Given the description of an element on the screen output the (x, y) to click on. 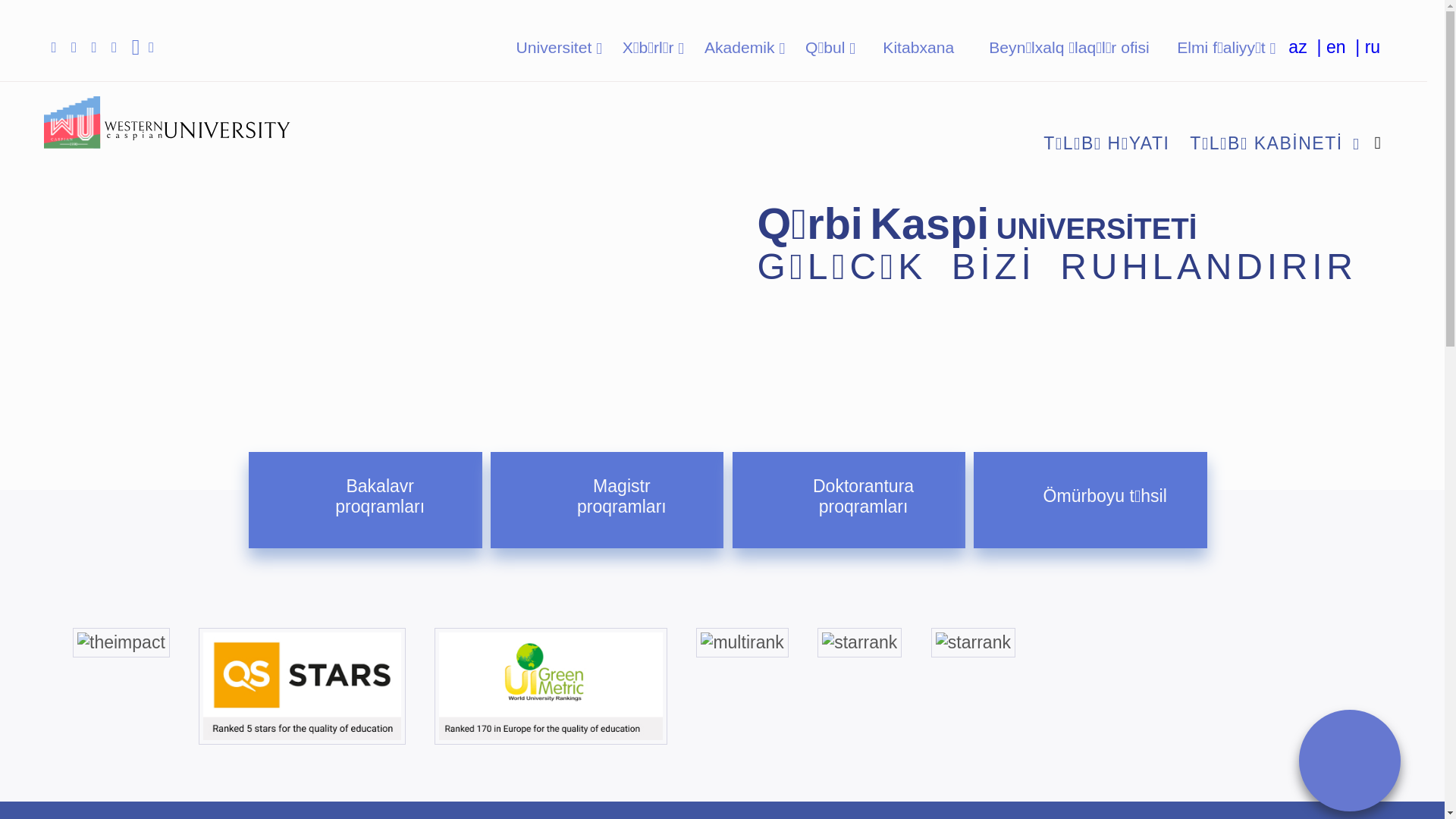
Kitabxana Element type: text (917, 47)
ru Element type: text (1372, 47)
en  |  Element type: text (1345, 47)
Universitet Element type: text (558, 47)
az  |  Element type: text (1307, 47)
Akademik Element type: text (743, 47)
